Given the description of an element on the screen output the (x, y) to click on. 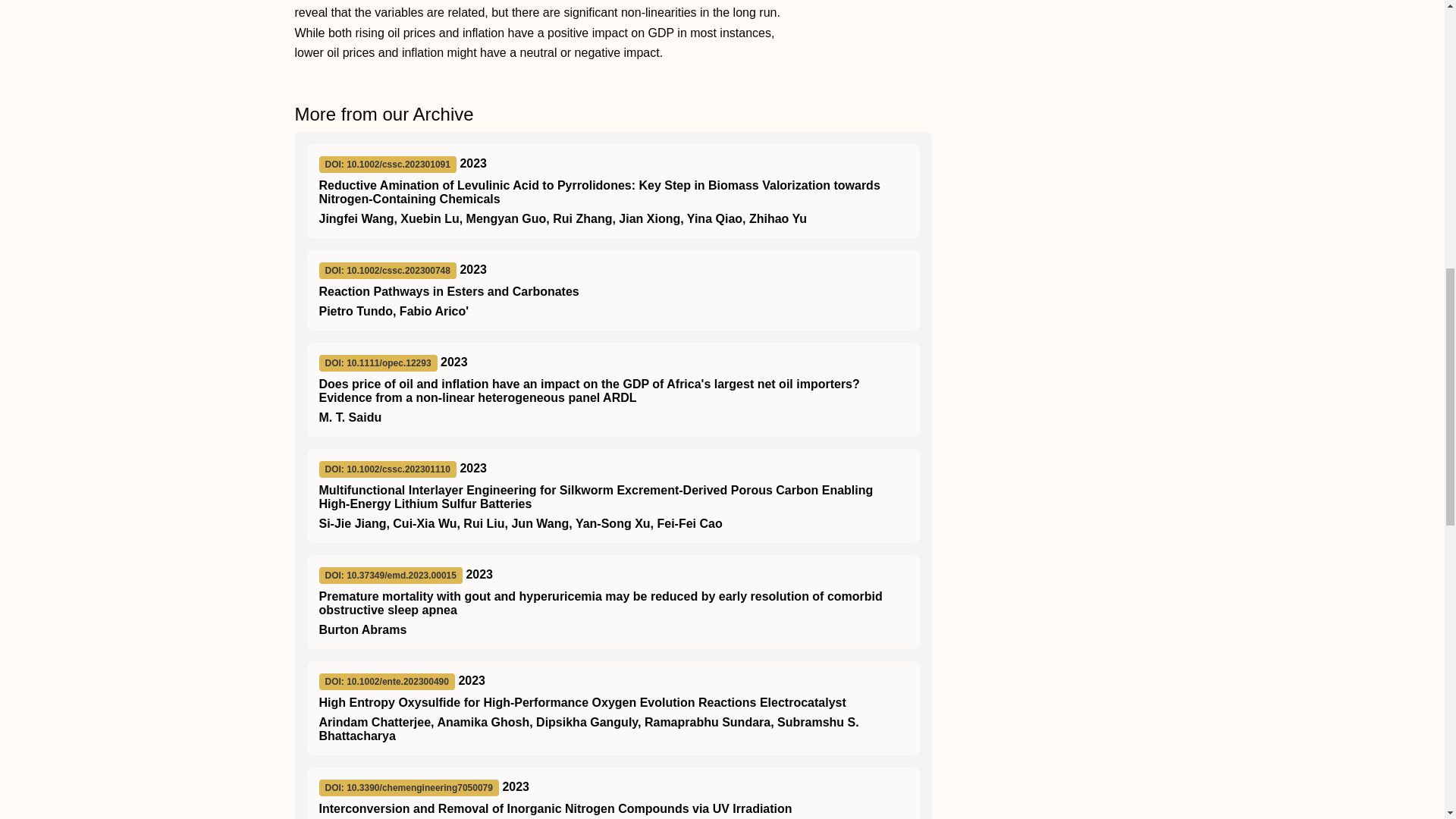
Advertisement (1049, 62)
